Given the description of an element on the screen output the (x, y) to click on. 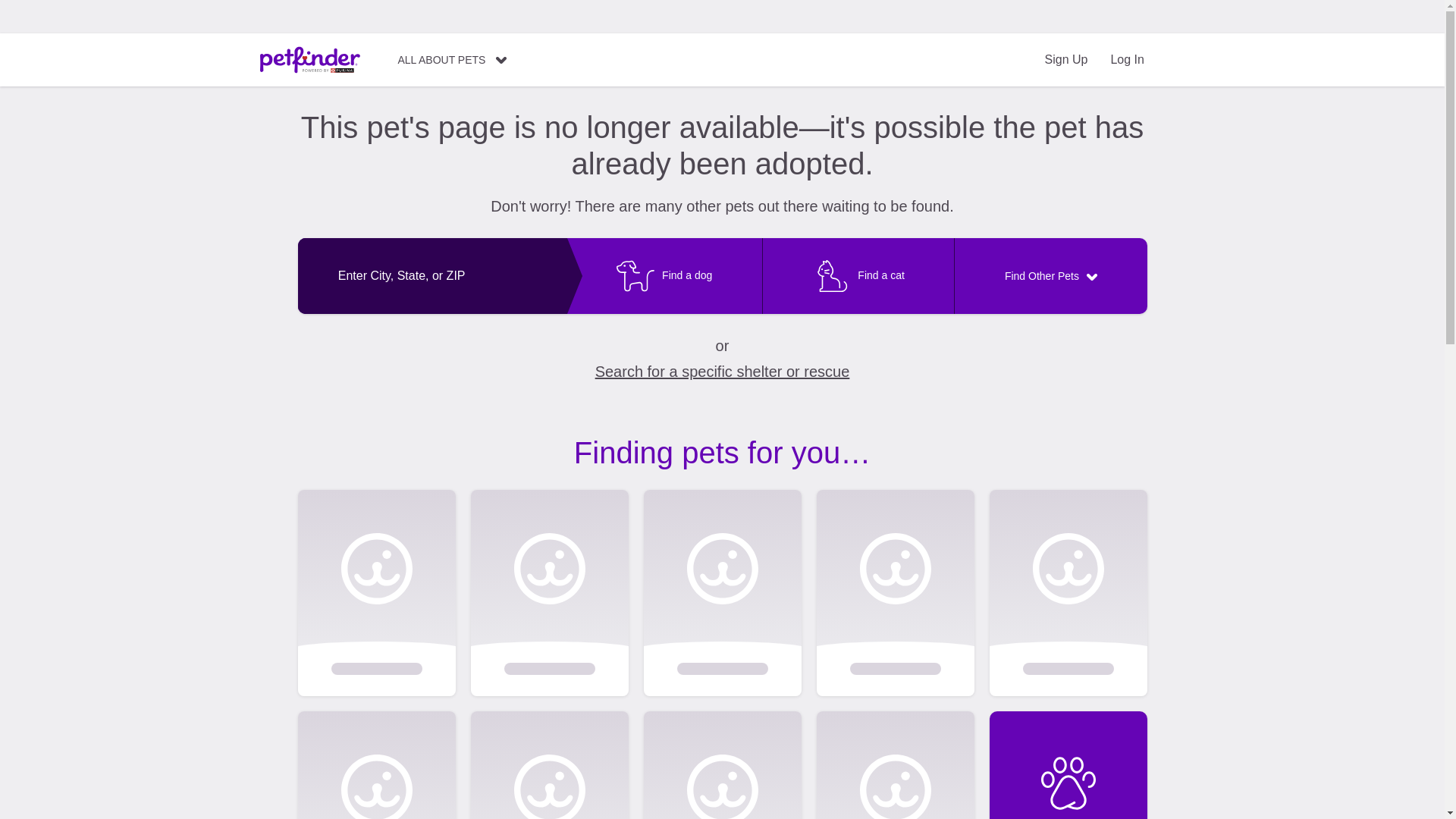
ALL ABOUT PETS (451, 60)
